Given the description of an element on the screen output the (x, y) to click on. 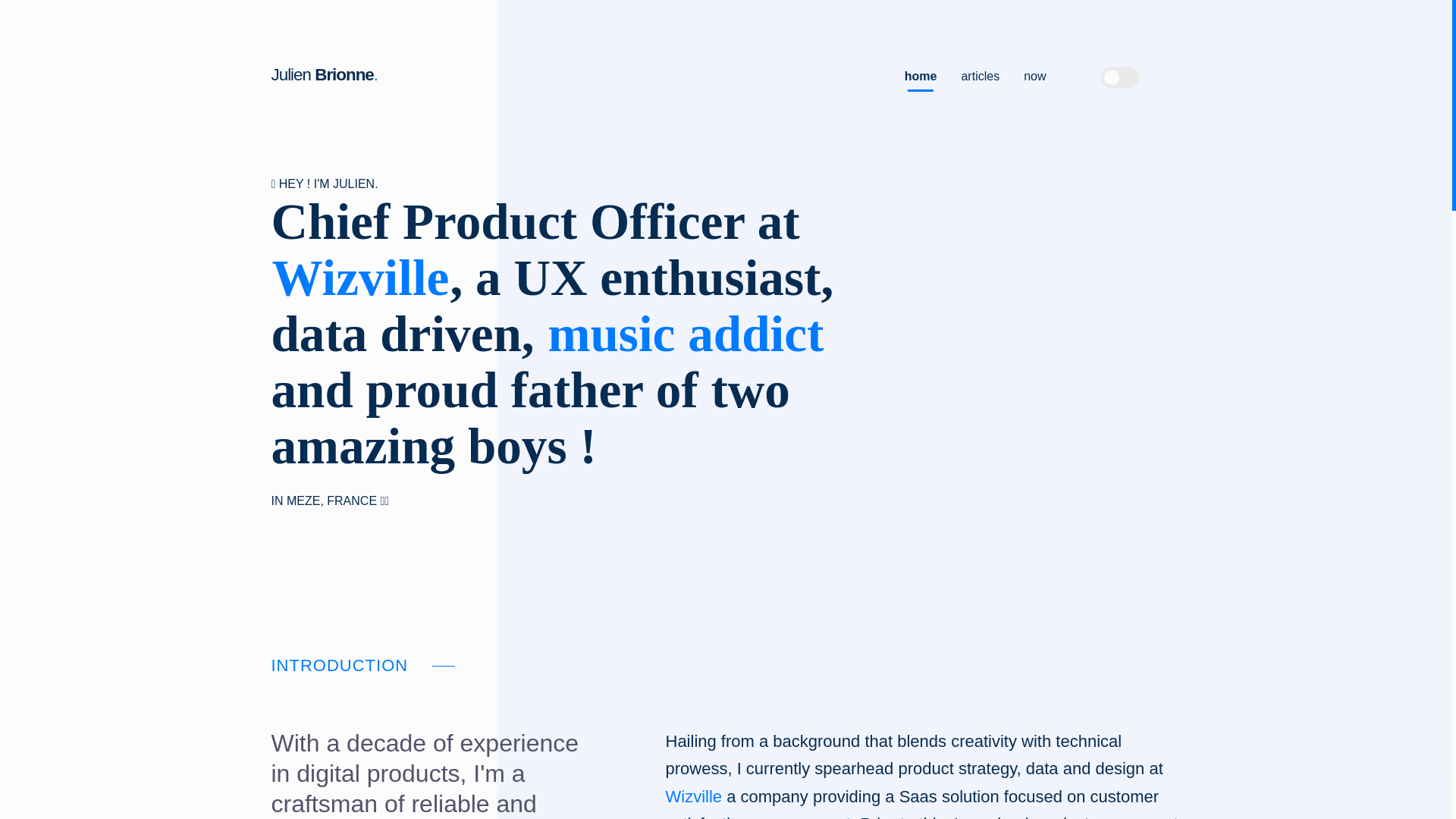
Wizville (693, 796)
articles (980, 74)
Wizville (359, 278)
Julien Brionne. (324, 74)
music addict (685, 334)
now (1034, 74)
home (920, 74)
